Given the description of an element on the screen output the (x, y) to click on. 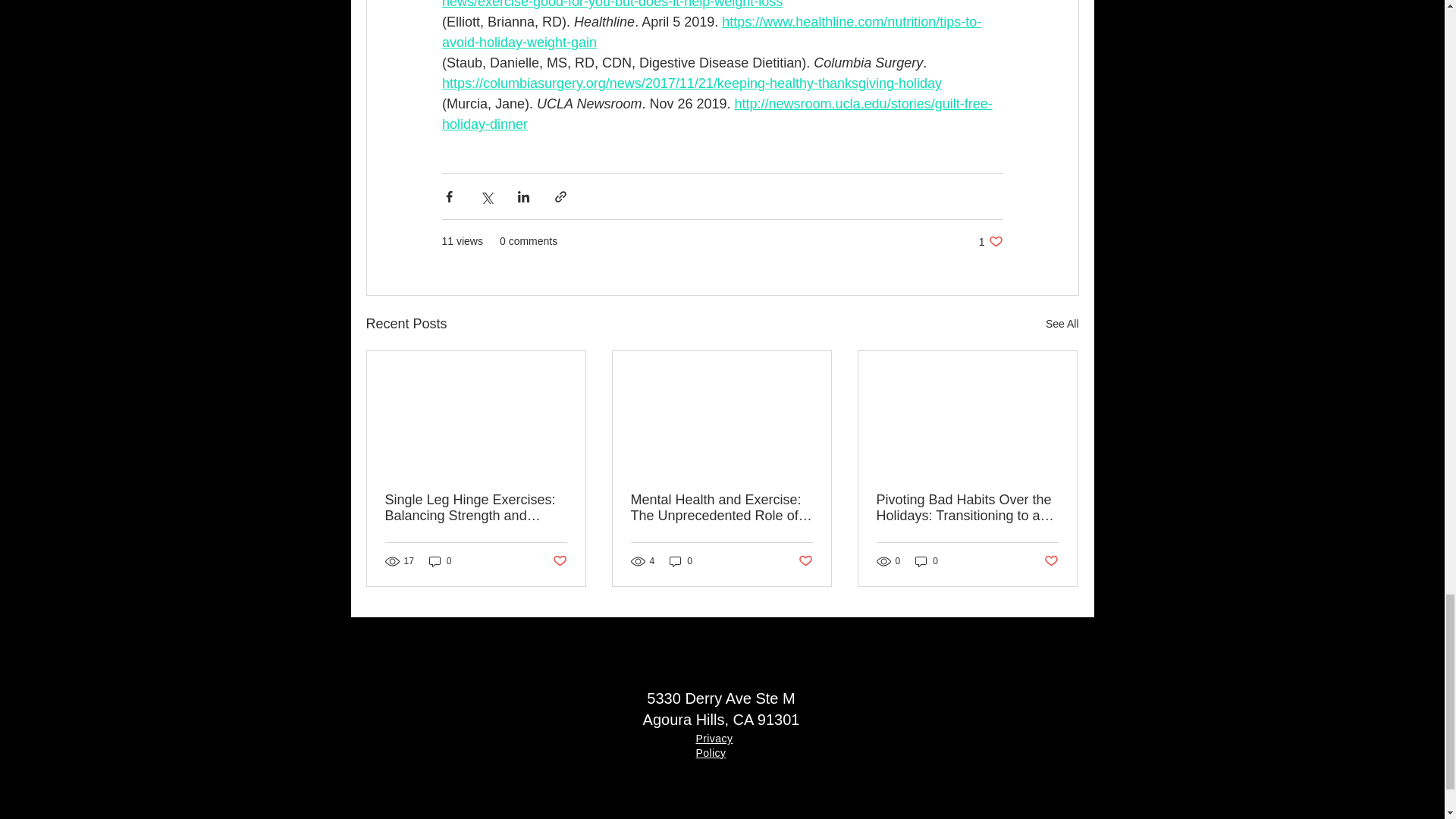
0 (681, 561)
Post not marked as liked (804, 561)
Post not marked as liked (990, 241)
0 (1050, 561)
See All (440, 561)
Post not marked as liked (1061, 323)
Privacy Policy (558, 561)
0 (714, 745)
